Given the description of an element on the screen output the (x, y) to click on. 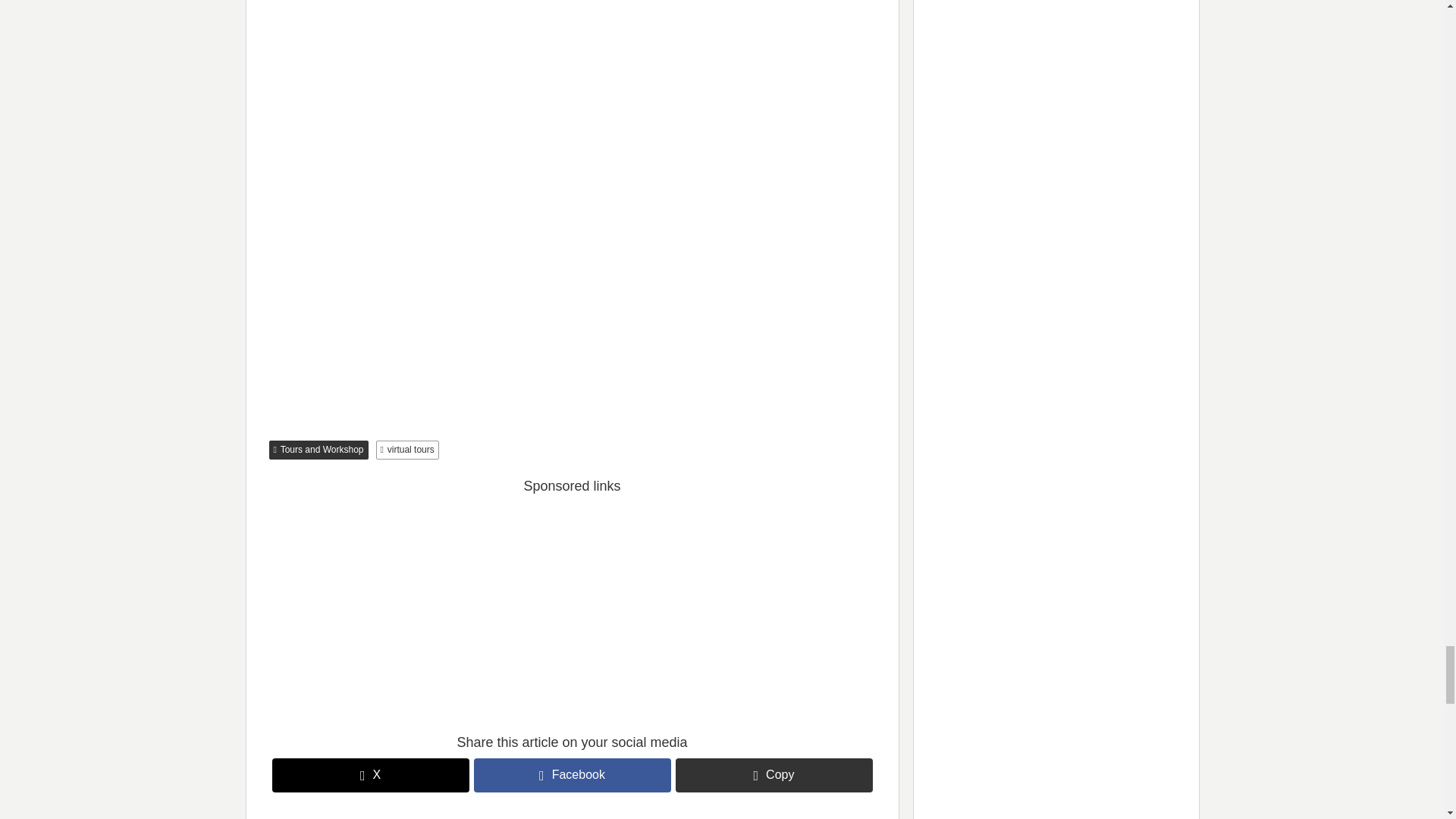
Share on Facebook (571, 775)
Share on X (369, 775)
Copy the title and URL (773, 775)
